Given the description of an element on the screen output the (x, y) to click on. 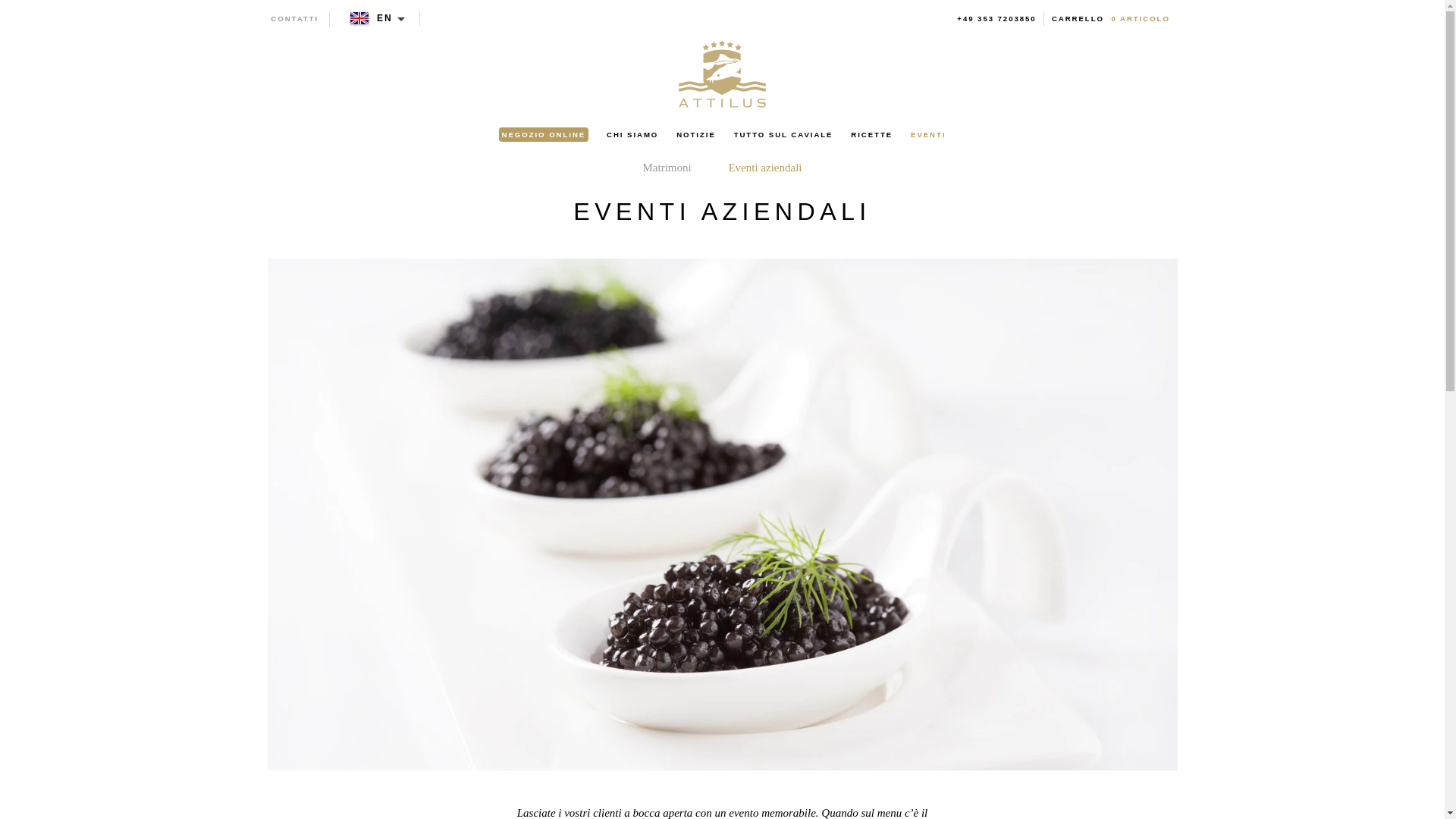
NOTIZIE Element type: text (696, 135)
Matrimoni Element type: text (666, 167)
CHI SIAMO Element type: text (632, 135)
NEGOZIO ONLINE Element type: text (543, 135)
Eventi aziendali Element type: text (765, 167)
RICETTE Element type: text (872, 135)
EVENTI Element type: text (928, 135)
0 ARTICOLO Element type: text (1140, 18)
TUTTO SUL CAVIALE Element type: text (783, 135)
CONTATTI Element type: text (293, 18)
